Given the description of an element on the screen output the (x, y) to click on. 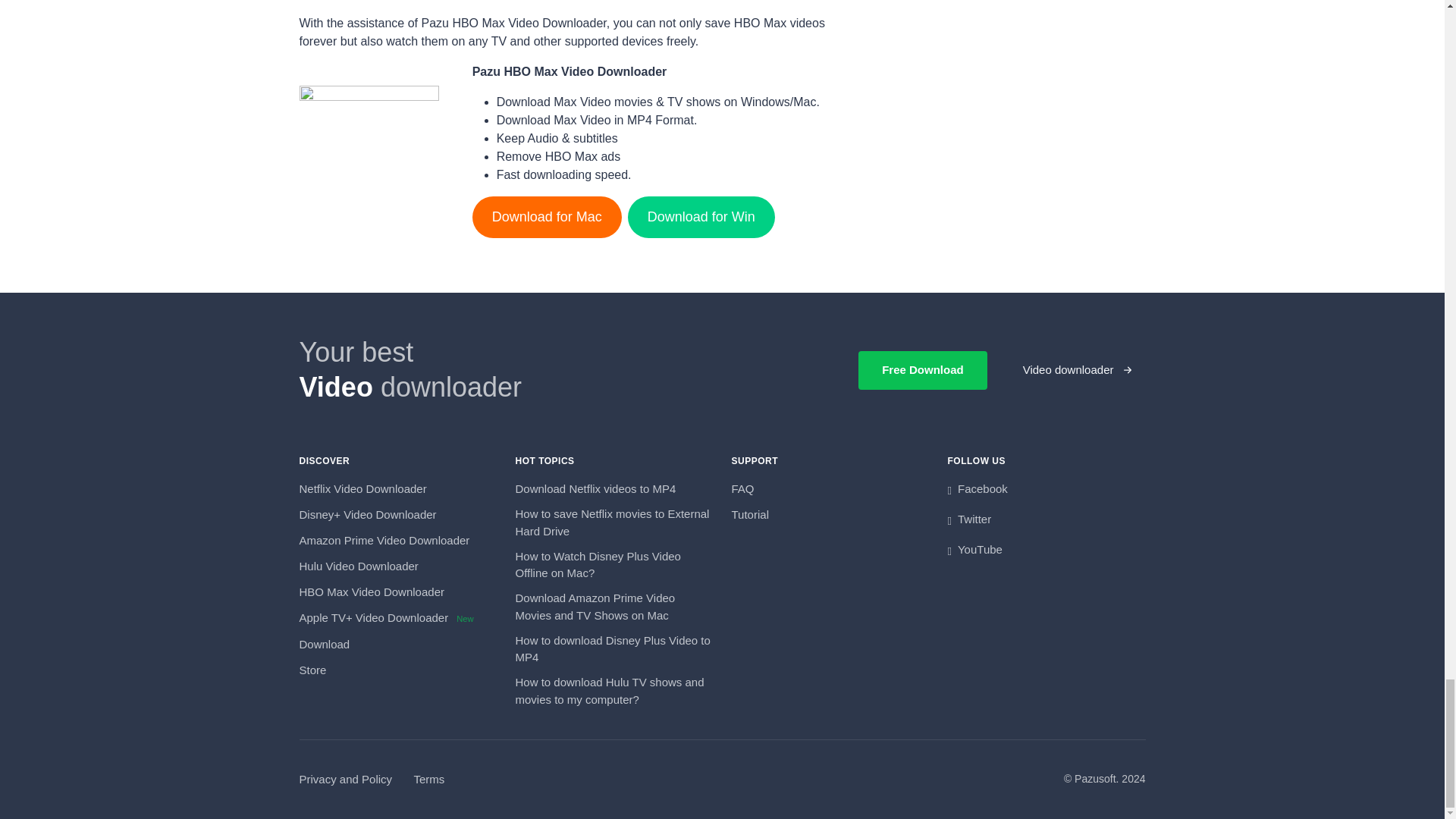
Download for Win (700, 217)
Download for Mac (546, 217)
